Given the description of an element on the screen output the (x, y) to click on. 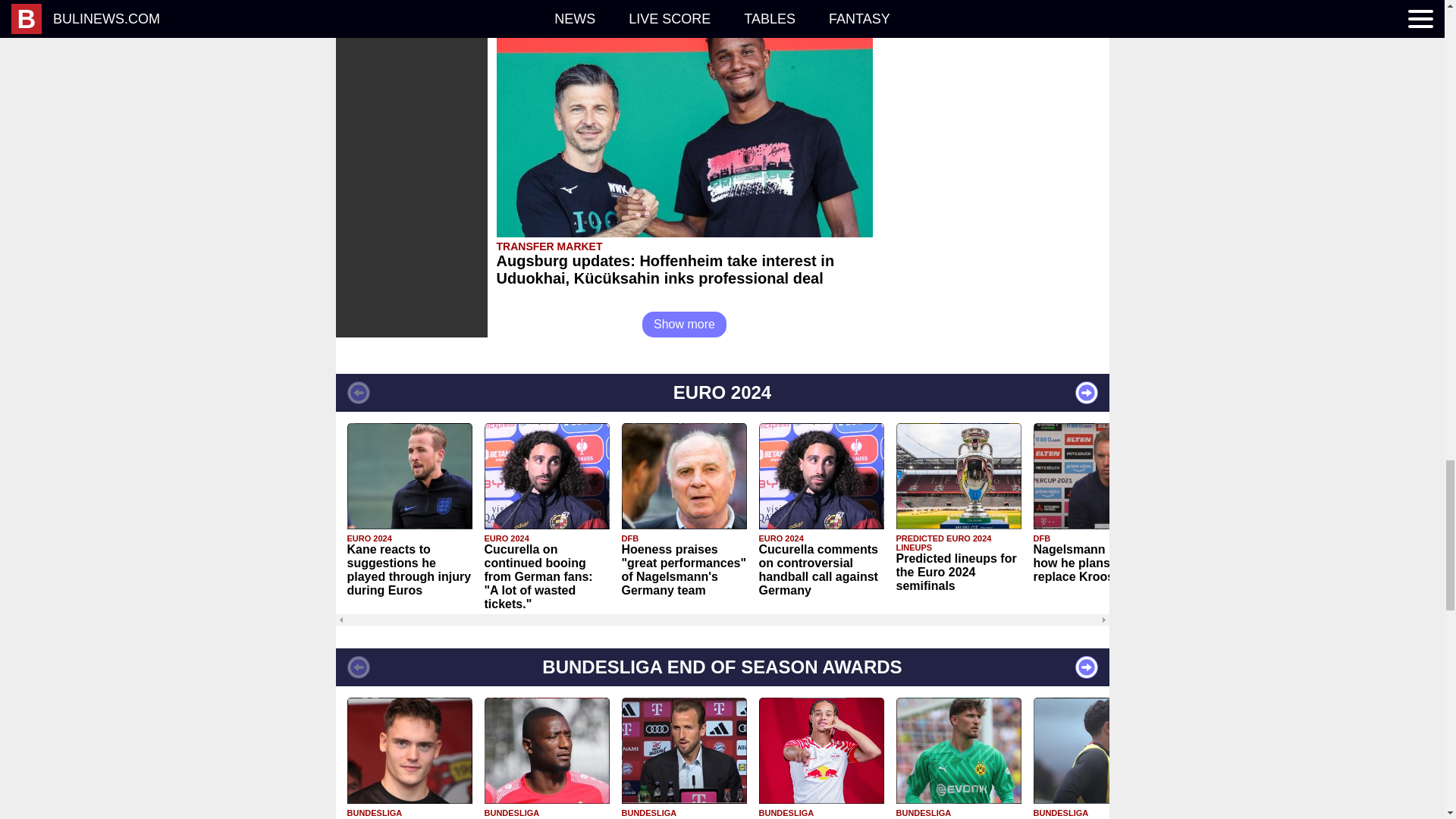
BUNDESLIGA END OF SEASON AWARDS (721, 667)
EURO 2024 (721, 392)
